Given the description of an element on the screen output the (x, y) to click on. 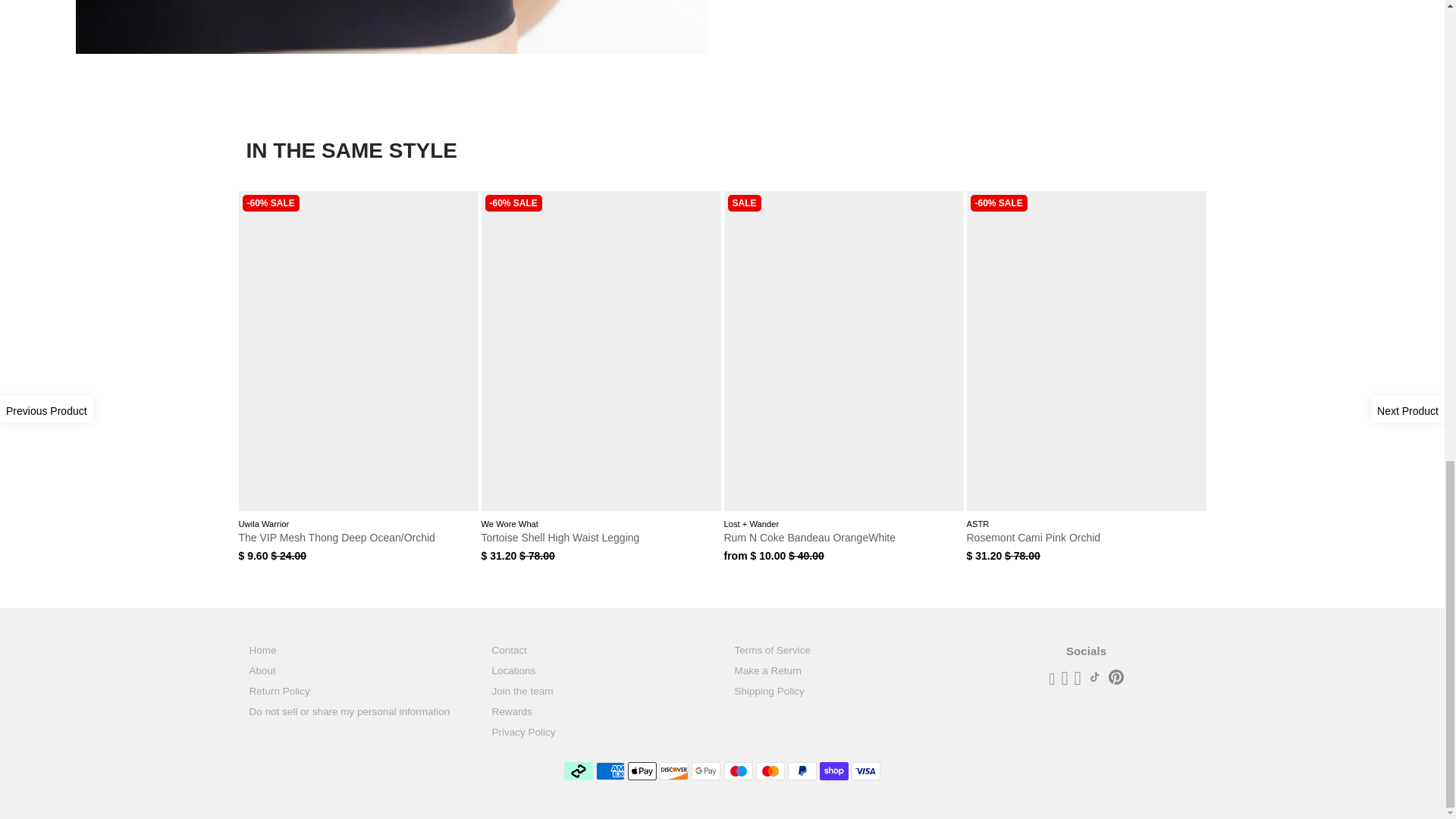
Discover (673, 771)
Mastercard (769, 771)
Shop Pay (833, 771)
PayPal (801, 771)
Maestro (737, 771)
American Express (609, 771)
Apple Pay (641, 771)
Google Pay (705, 771)
Visa (865, 771)
Afterpay (578, 771)
